Given the description of an element on the screen output the (x, y) to click on. 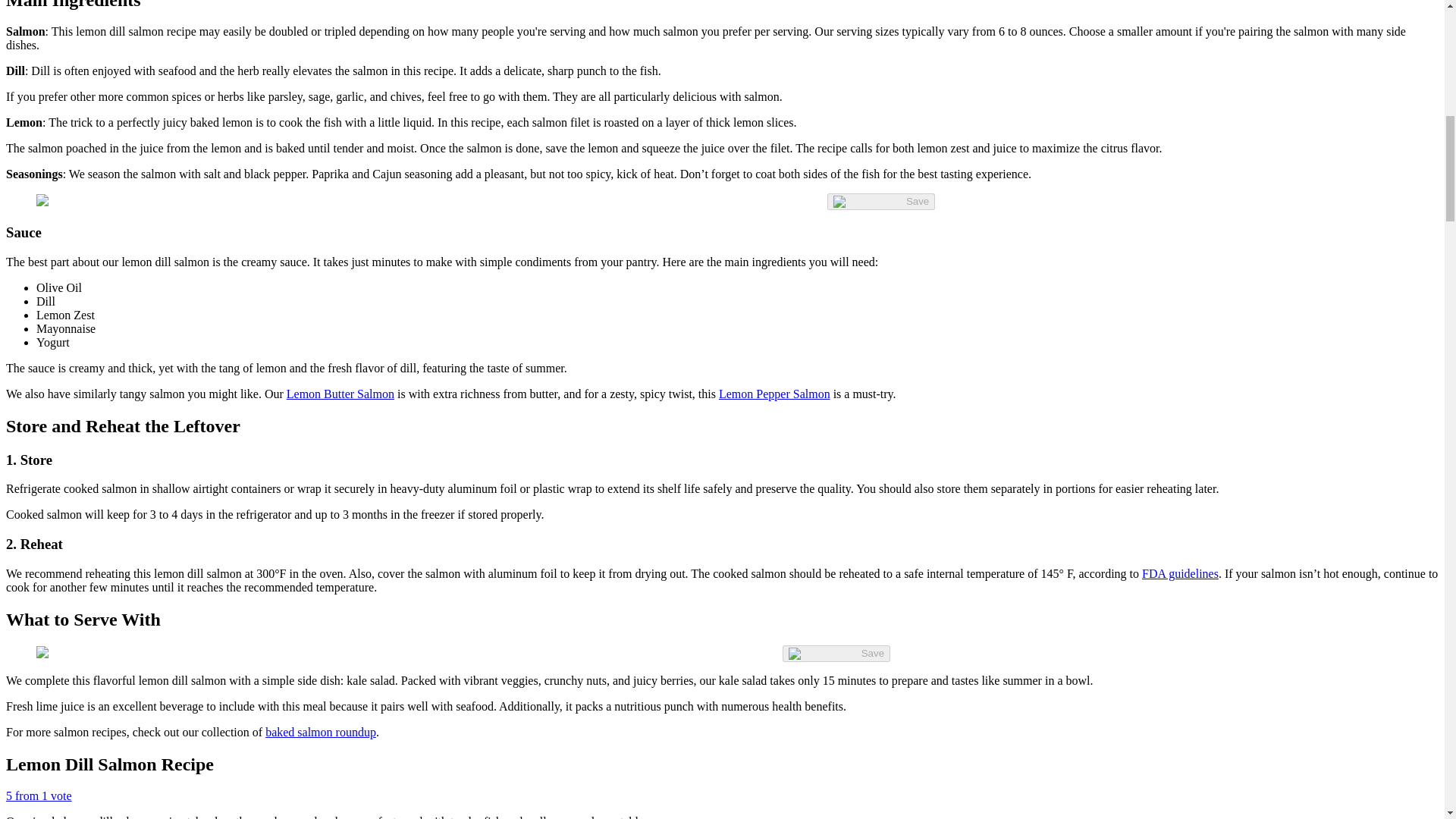
Save (880, 201)
FDA guidelines (1179, 573)
baked salmon roundup (319, 731)
Save (836, 653)
Lemon Pepper Salmon (774, 393)
Lemon Butter Salmon (340, 393)
5 from 1 vote (38, 795)
